Given the description of an element on the screen output the (x, y) to click on. 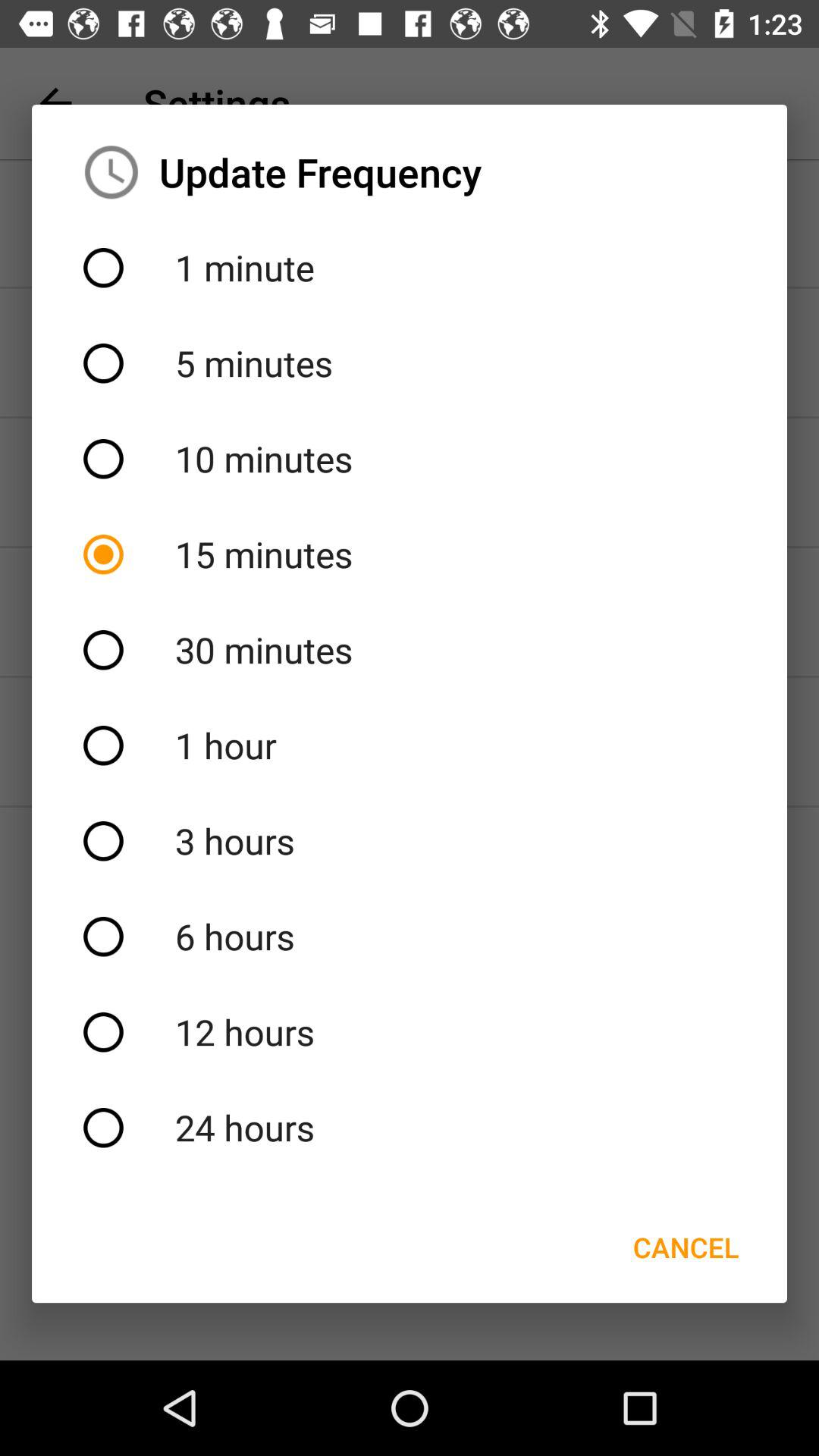
open 12 hours (409, 1032)
